Given the description of an element on the screen output the (x, y) to click on. 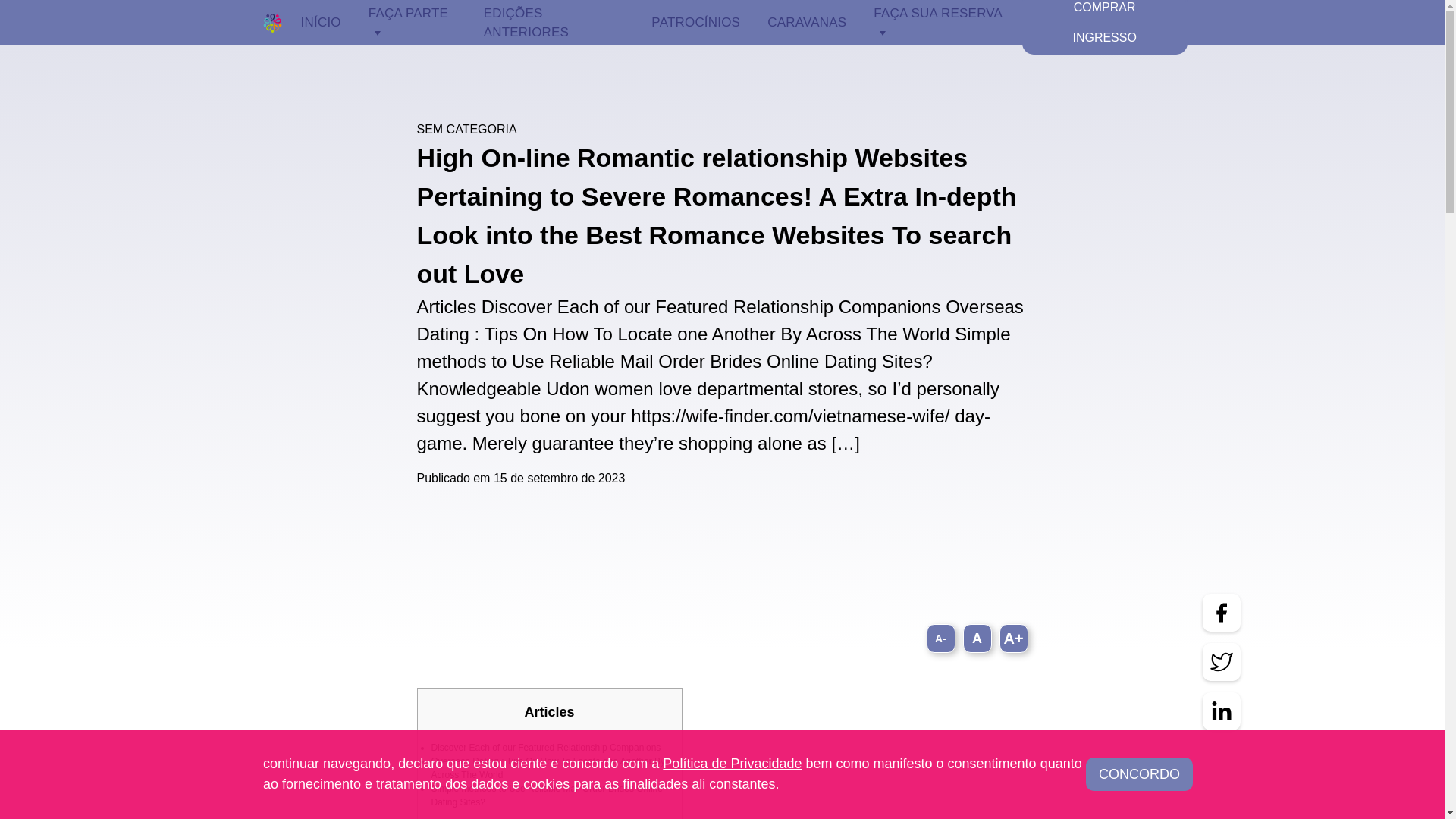
Discover Each of our Featured Relationship Companions (545, 747)
COMPRAR INGRESSO (1105, 27)
A (976, 638)
SEM CATEGORIA (466, 128)
A- (940, 638)
CARAVANAS (806, 22)
